Given the description of an element on the screen output the (x, y) to click on. 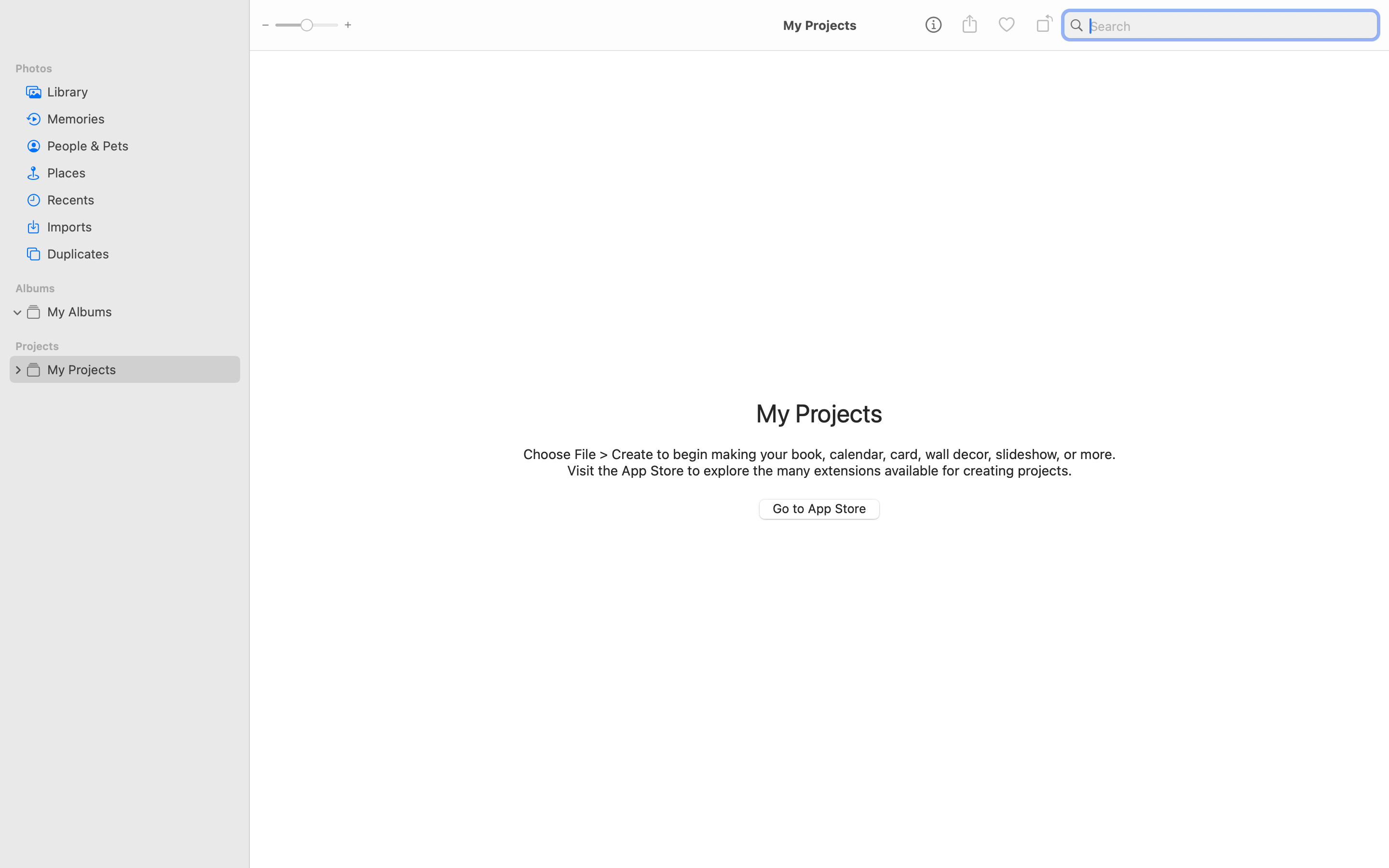
0 Element type: AXDisclosureTriangle (17, 368)
Places Element type: AXStaticText (139, 172)
Projects Element type: AXStaticText (130, 345)
Library Element type: AXStaticText (139, 91)
Photos Element type: AXStaticText (130, 68)
